Given the description of an element on the screen output the (x, y) to click on. 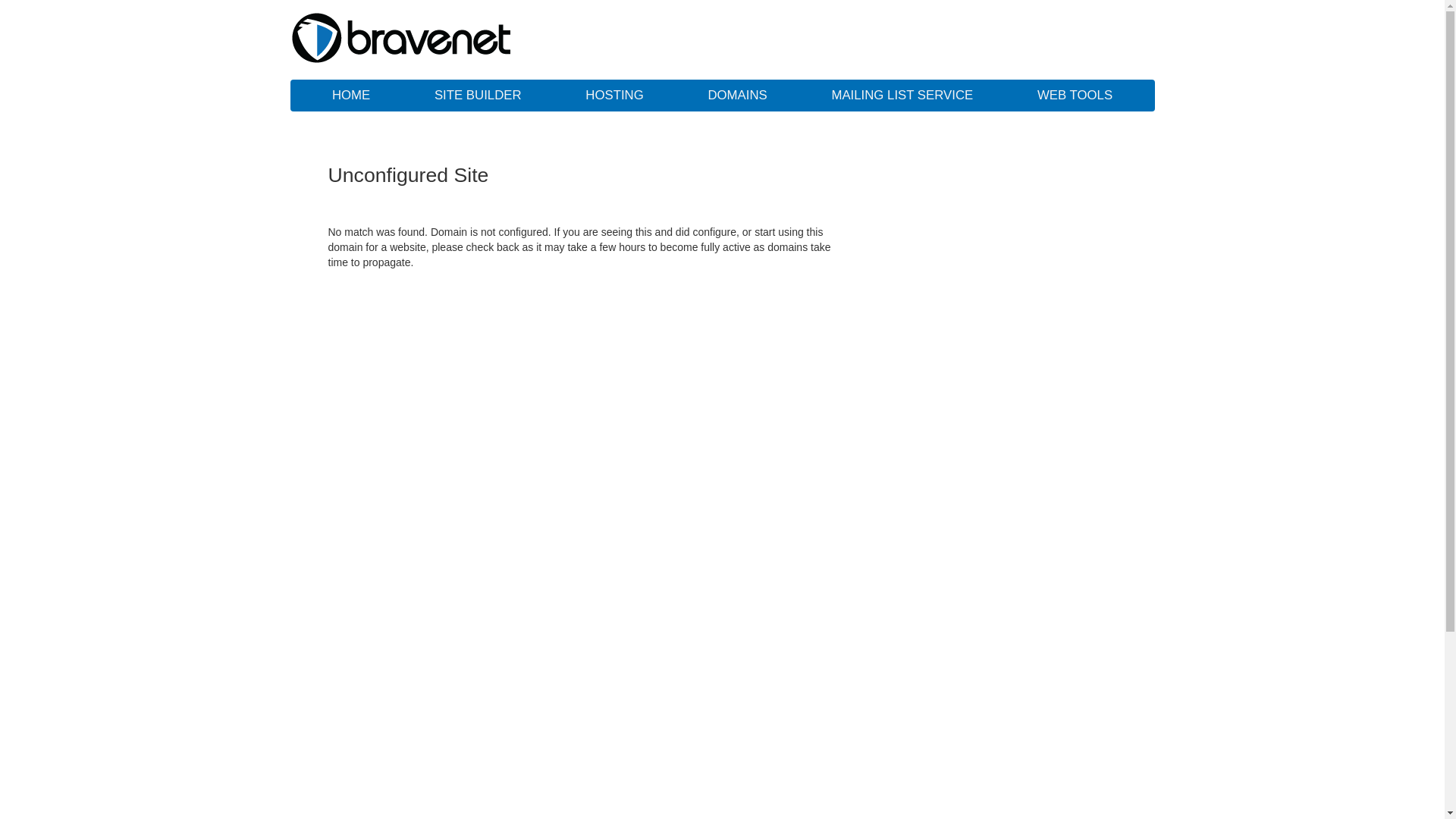
MAILING LIST SERVICE Element type: text (901, 95)
WEB TOOLS Element type: text (1074, 95)
HOME Element type: text (350, 95)
DOMAINS Element type: text (737, 95)
HOSTING Element type: text (614, 95)
SITE BUILDER Element type: text (478, 95)
